Given the description of an element on the screen output the (x, y) to click on. 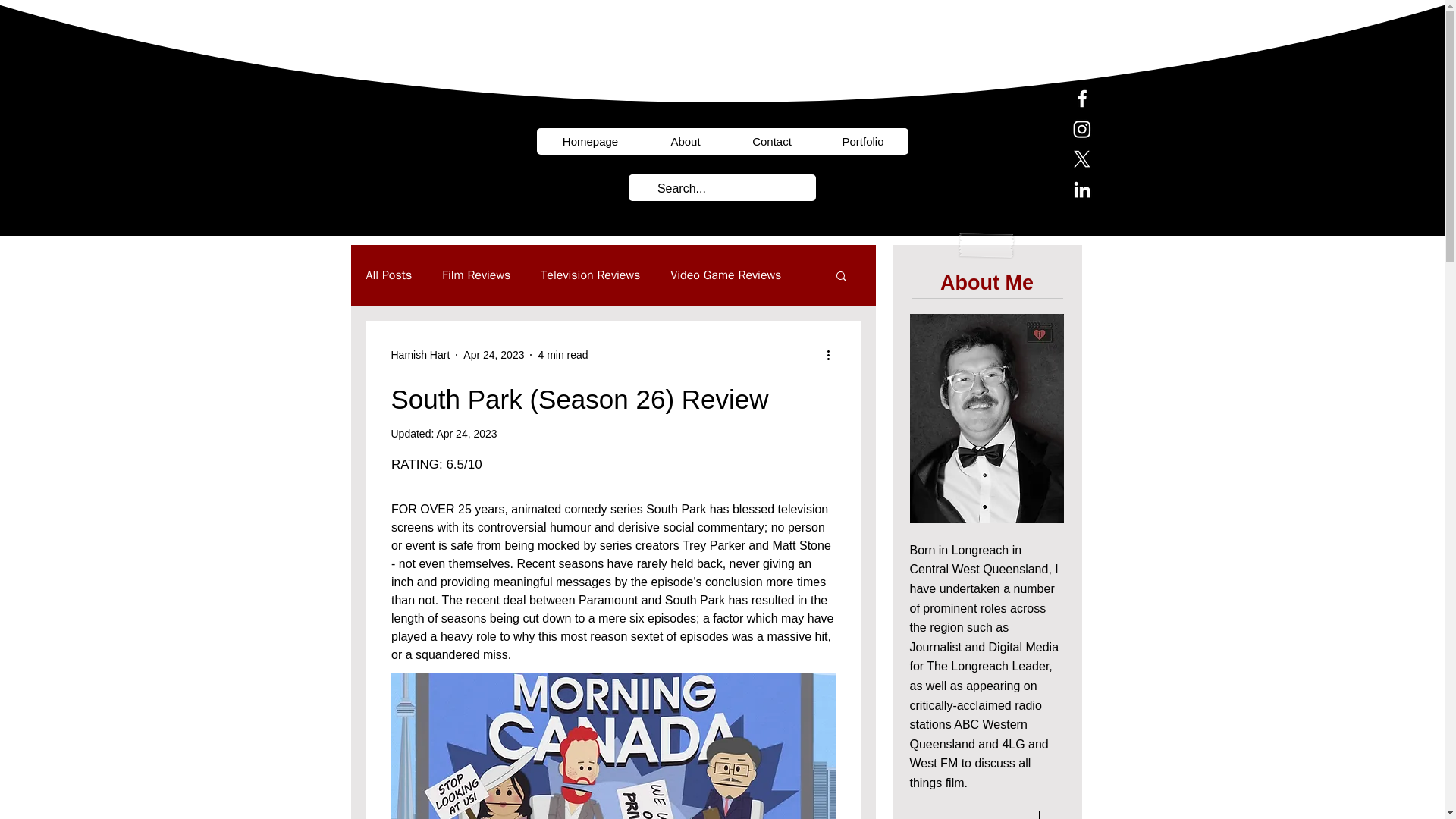
Portfolio (862, 140)
Homepage (591, 140)
Film Reviews (476, 274)
4 min read (562, 354)
Apr 24, 2023 (493, 354)
Television Reviews (590, 274)
Contact (771, 140)
All Posts (388, 274)
About (685, 140)
Hamish Hart (420, 355)
